Given the description of an element on the screen output the (x, y) to click on. 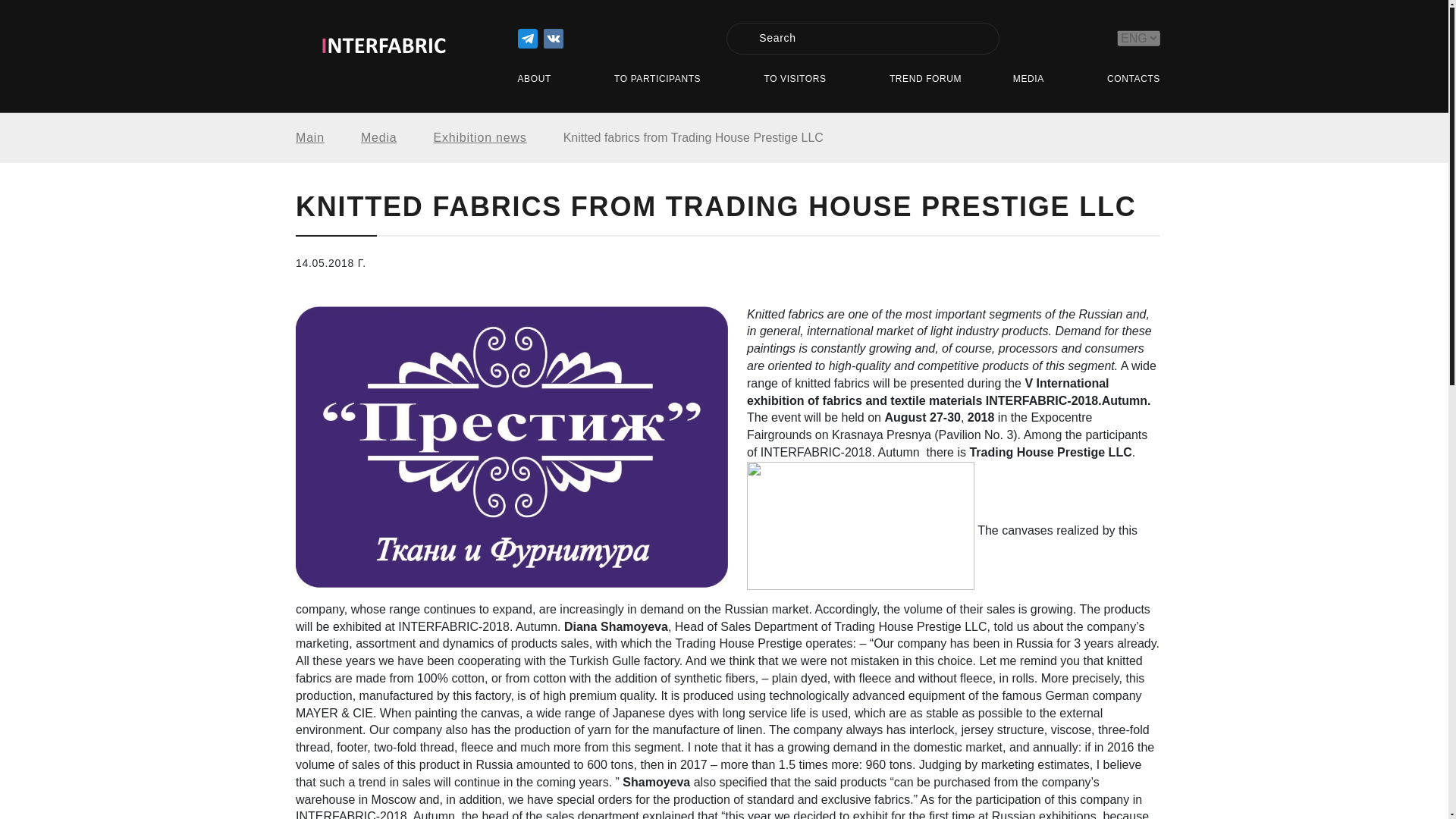
Exhibition news (497, 137)
CONTACTS (1133, 79)
Main (328, 137)
MEDIA (1035, 79)
Vk (552, 38)
TO PARTICIPANTS (663, 79)
Main (328, 137)
Exhibition news (497, 137)
Media (397, 137)
TO VISITORS (800, 79)
TREND FORUM (924, 79)
ABOUT (539, 79)
Media (397, 137)
